Given the description of an element on the screen output the (x, y) to click on. 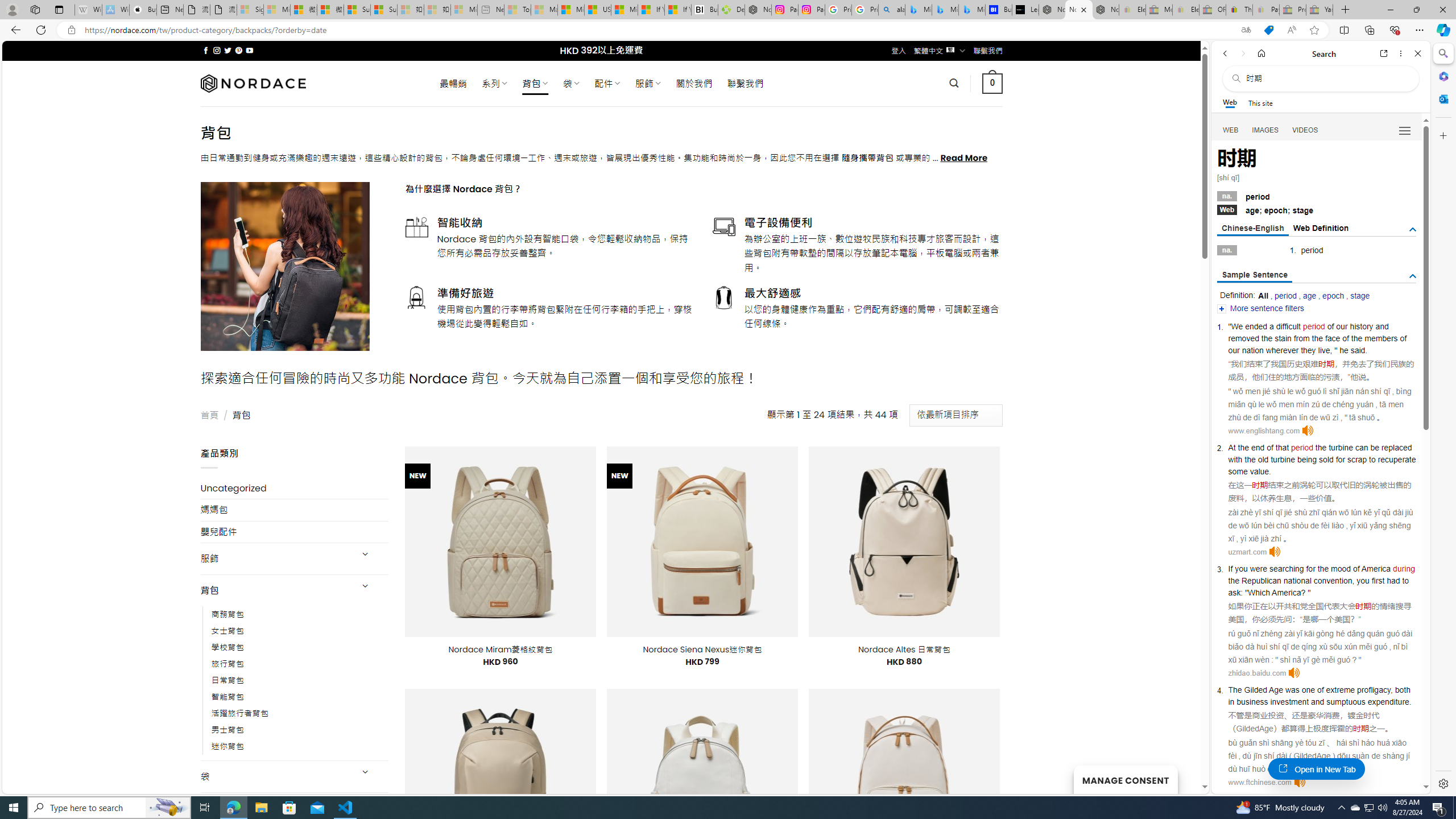
turbine (1340, 447)
Click to listen (1299, 782)
you (1363, 580)
uzmart.com (1246, 551)
alabama high school quarterback dies - Search (891, 9)
